Given the description of an element on the screen output the (x, y) to click on. 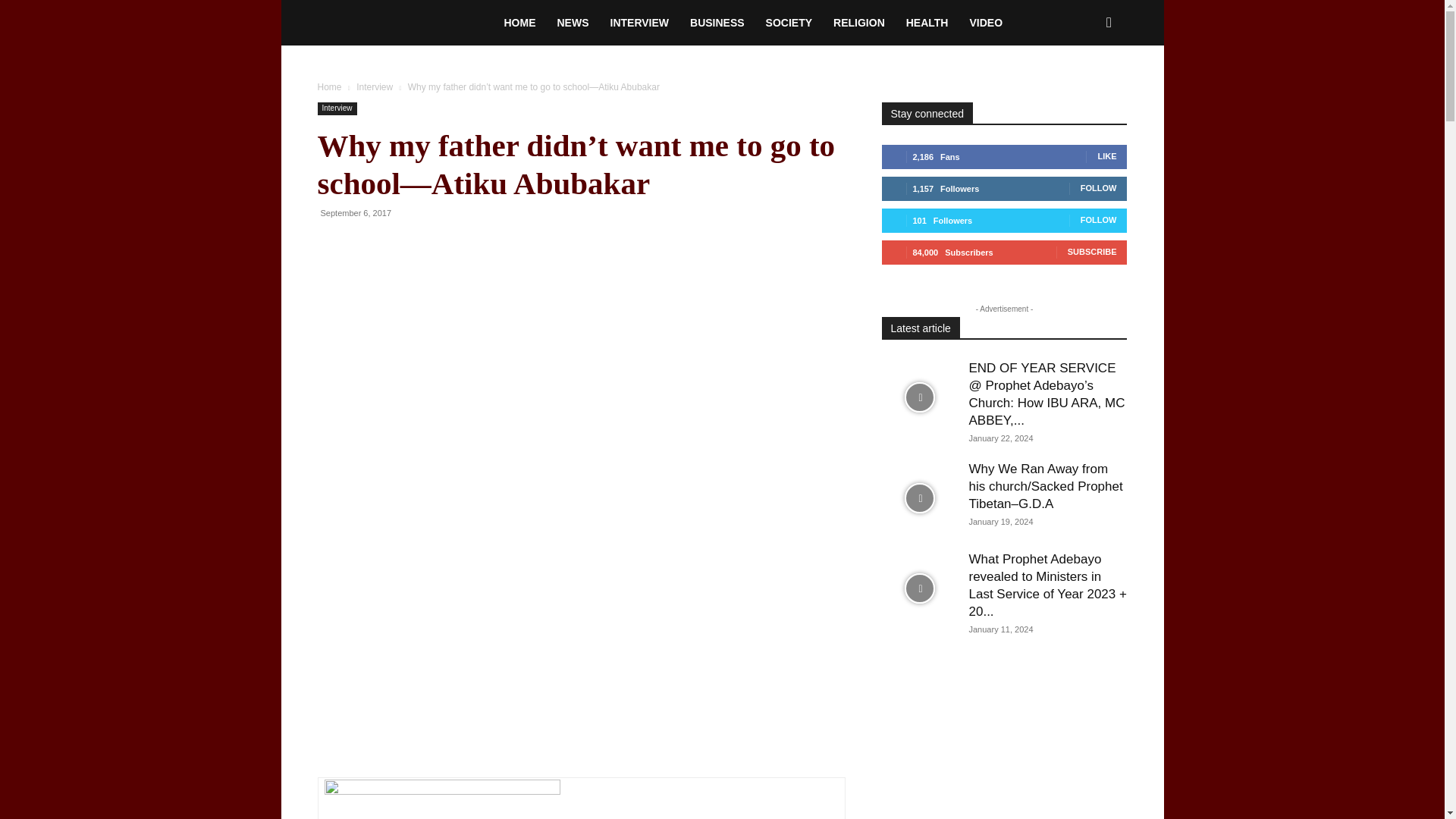
View all posts in Interview (374, 86)
VIDEO (985, 22)
Interview (336, 108)
Search (1085, 87)
Asabeafrika (405, 22)
Home (328, 86)
SOCIETY (788, 22)
HOME (519, 22)
NEWS (572, 22)
Interview (374, 86)
